Given the description of an element on the screen output the (x, y) to click on. 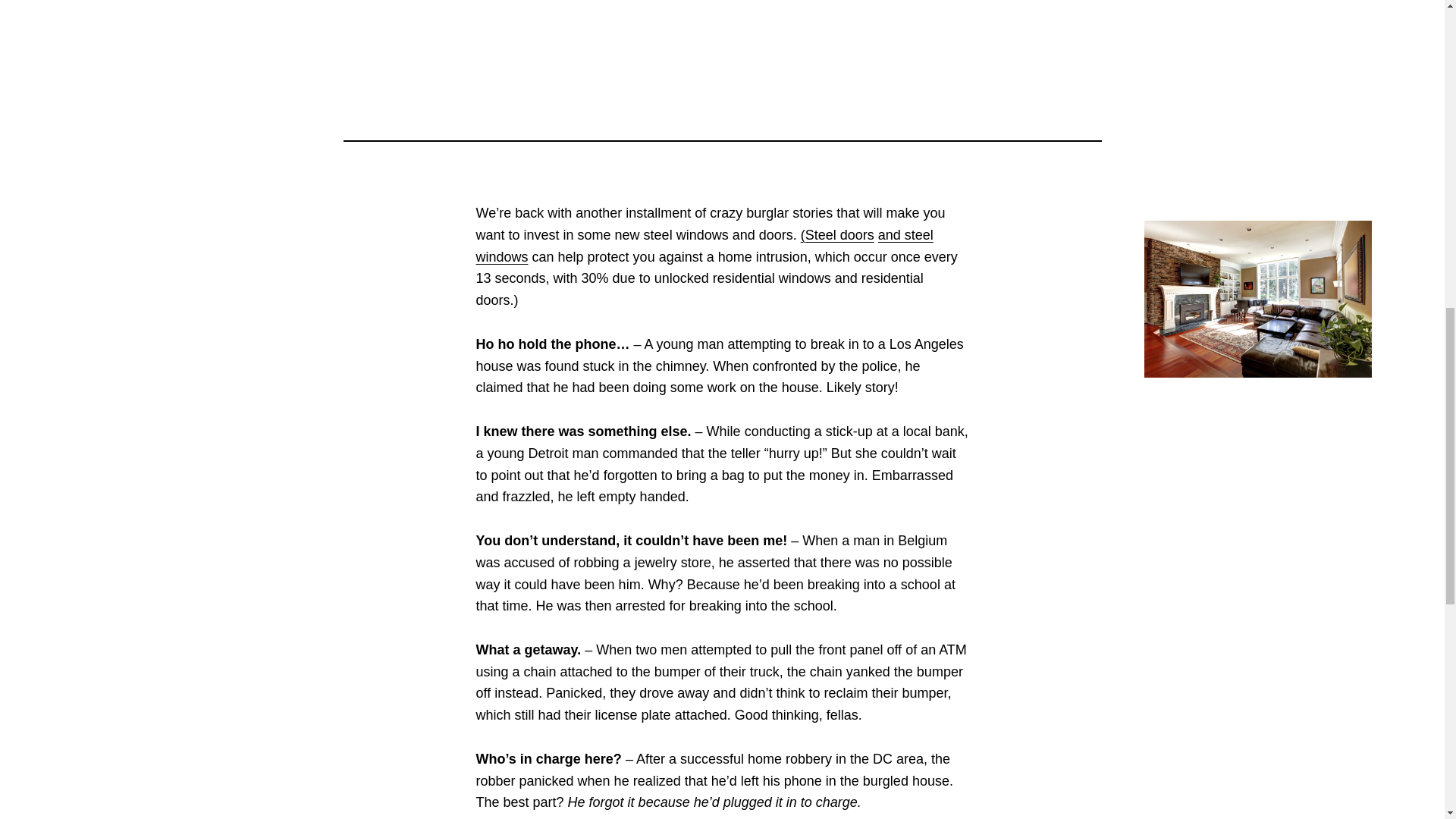
Try this (837, 234)
and steel windows (704, 245)
Learn more about Custom steel windows (704, 245)
